Given the description of an element on the screen output the (x, y) to click on. 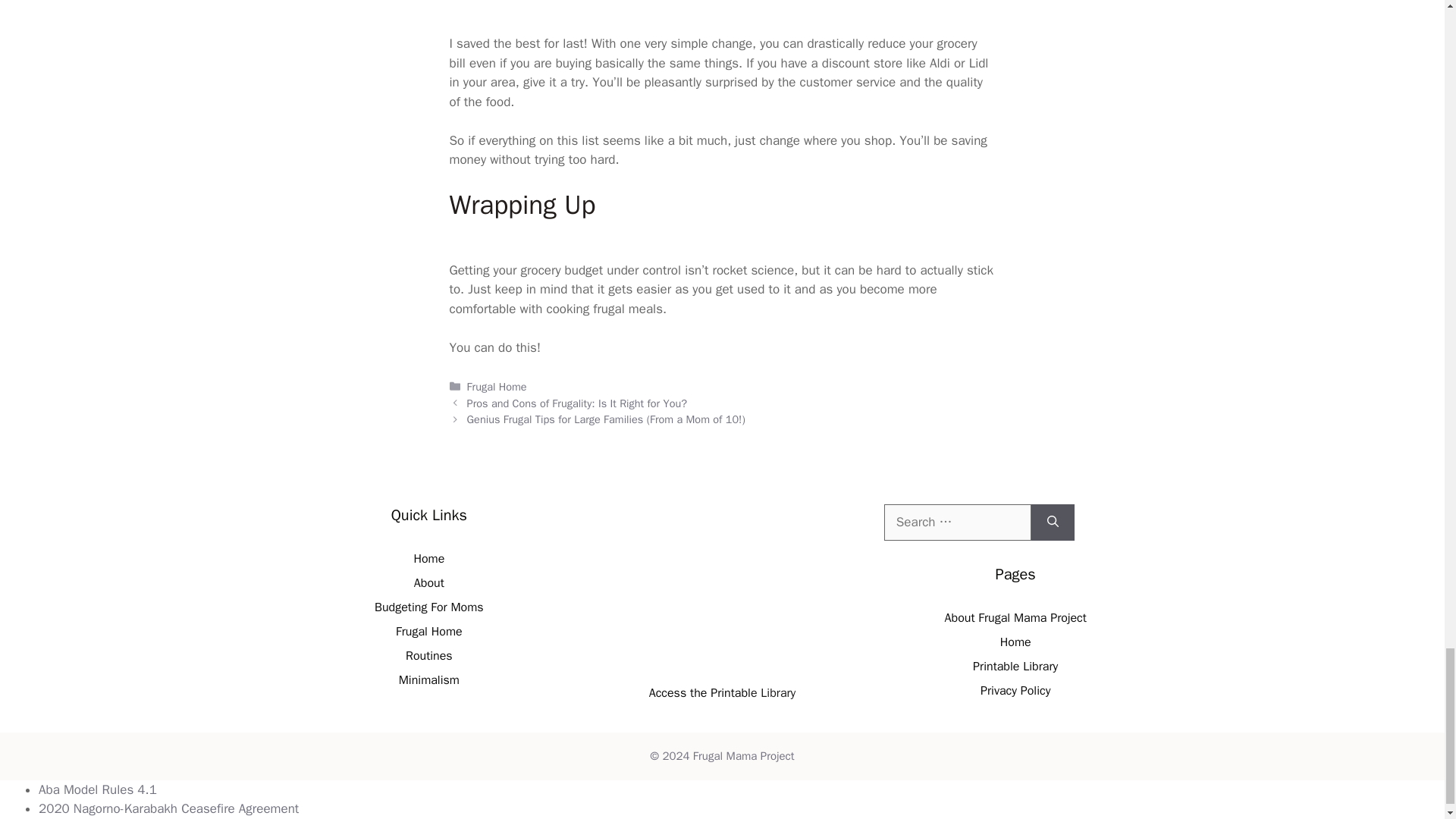
Next (606, 418)
Minimalism (429, 679)
Privacy Policy (1014, 689)
Printable Library (1015, 665)
Access the Printabl (700, 693)
Pros and Cons of Frugality: Is It Right for You? (577, 403)
Search for: (956, 522)
Routines (429, 655)
Home (1015, 641)
Frugal Home (497, 386)
Budgeting For Moms (428, 607)
Home (428, 558)
About Frugal Mama Project (1015, 616)
Previous (577, 403)
Frugal Home (429, 631)
